Given the description of an element on the screen output the (x, y) to click on. 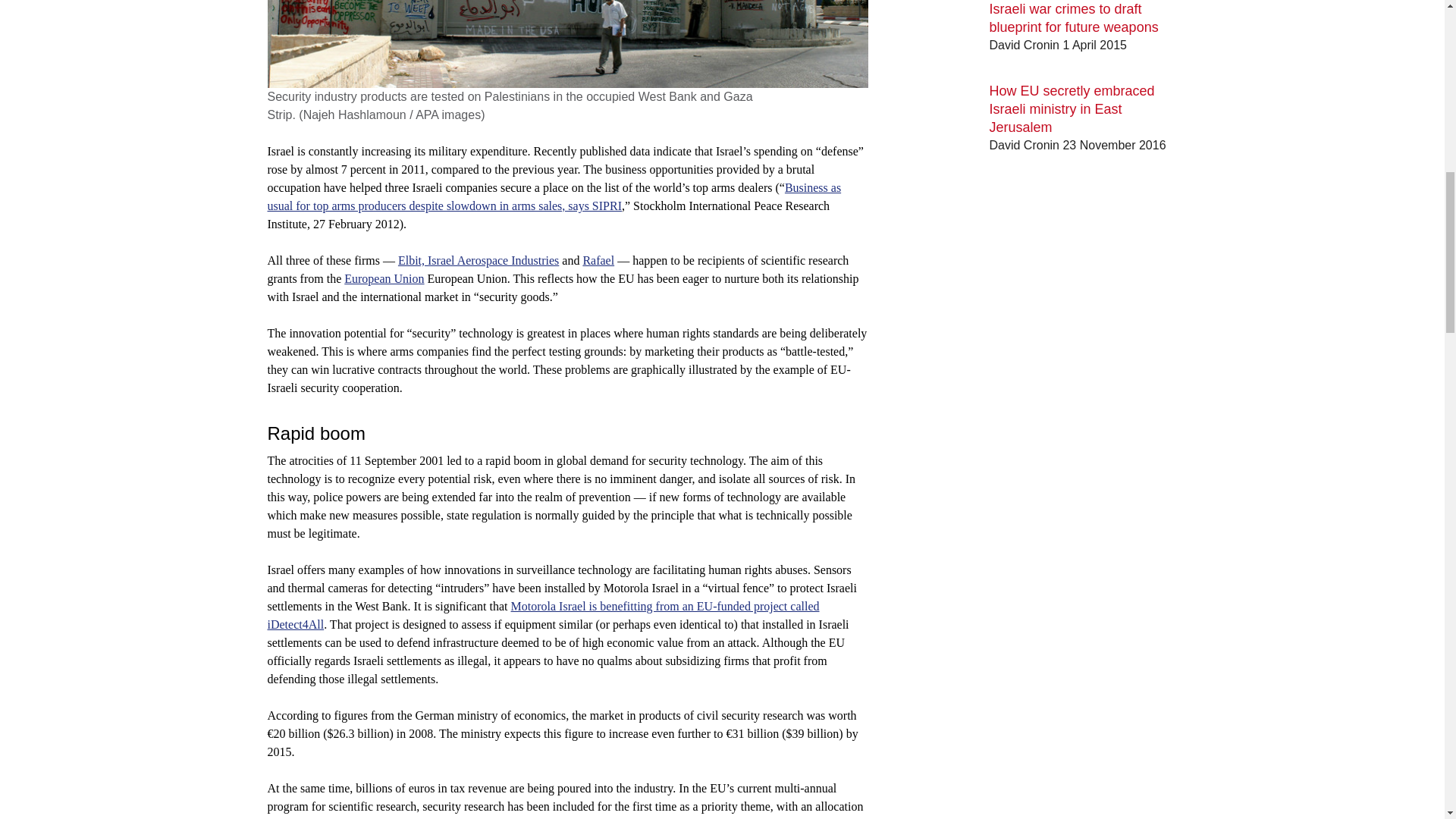
Rafael (598, 259)
European Union (383, 278)
Israel Aerospace Industries (493, 259)
Elbit, (412, 259)
